Given the description of an element on the screen output the (x, y) to click on. 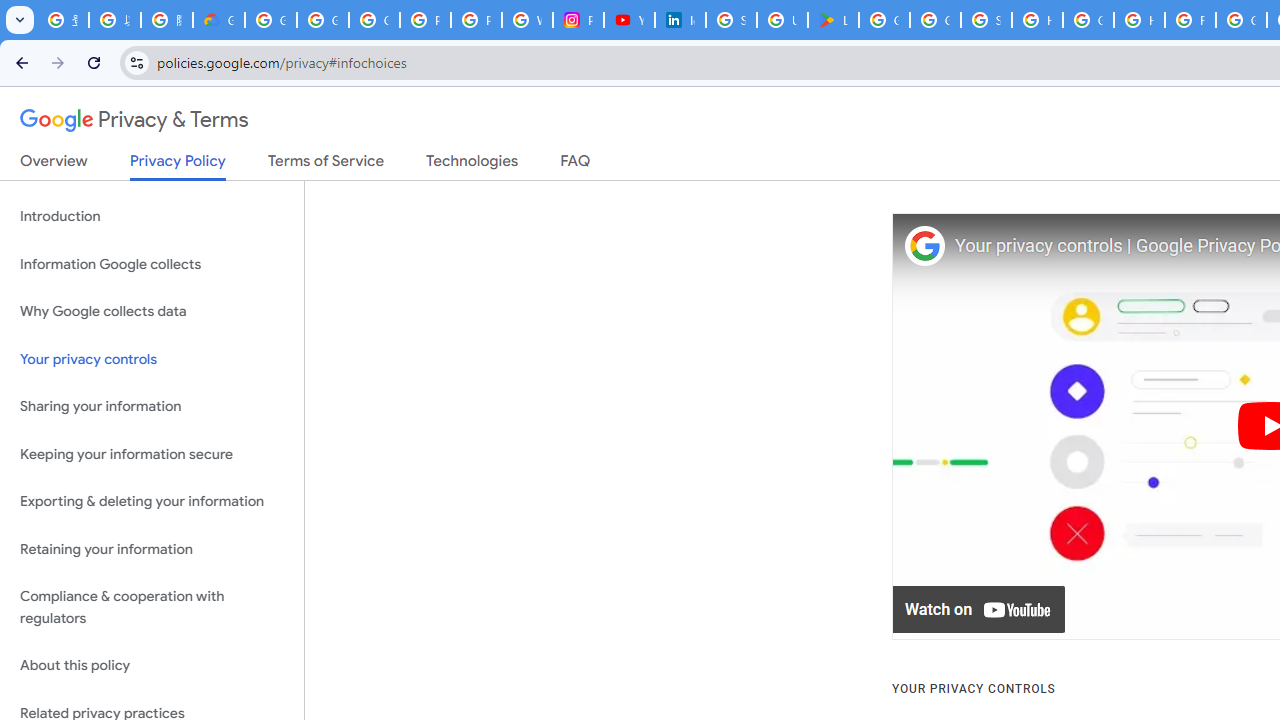
Introduction (152, 216)
Keeping your information secure (152, 453)
Sharing your information (152, 407)
Why Google collects data (152, 312)
Photo image of Google (924, 246)
Watch on YouTube (979, 610)
